Given the description of an element on the screen output the (x, y) to click on. 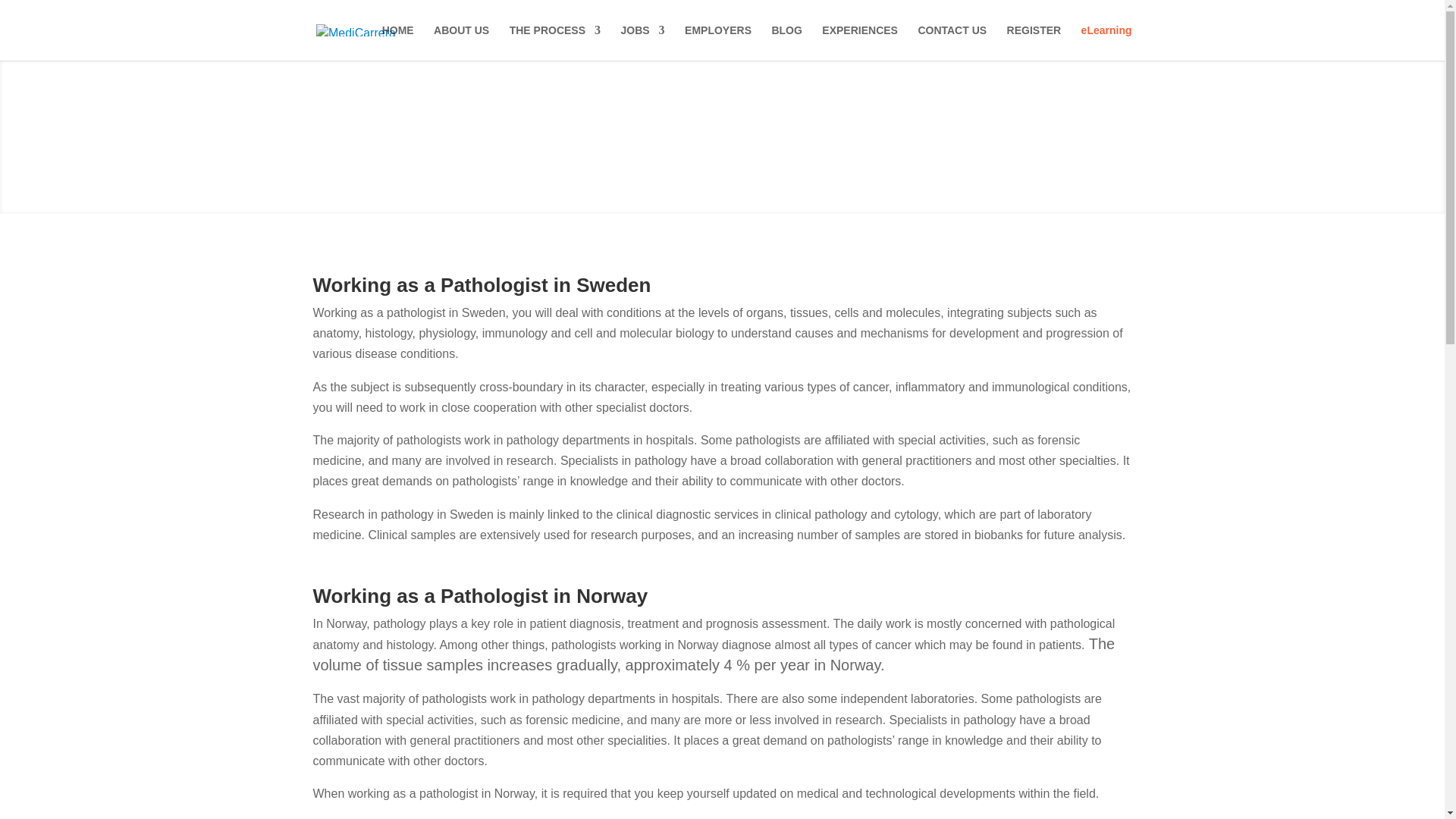
CONTACT US (952, 42)
THE PROCESS (554, 42)
eLearning (1106, 42)
REGISTER (1034, 42)
JOBS (641, 42)
HOME (397, 42)
EMPLOYERS (717, 42)
ABOUT US (461, 42)
EXPERIENCES (860, 42)
